Given the description of an element on the screen output the (x, y) to click on. 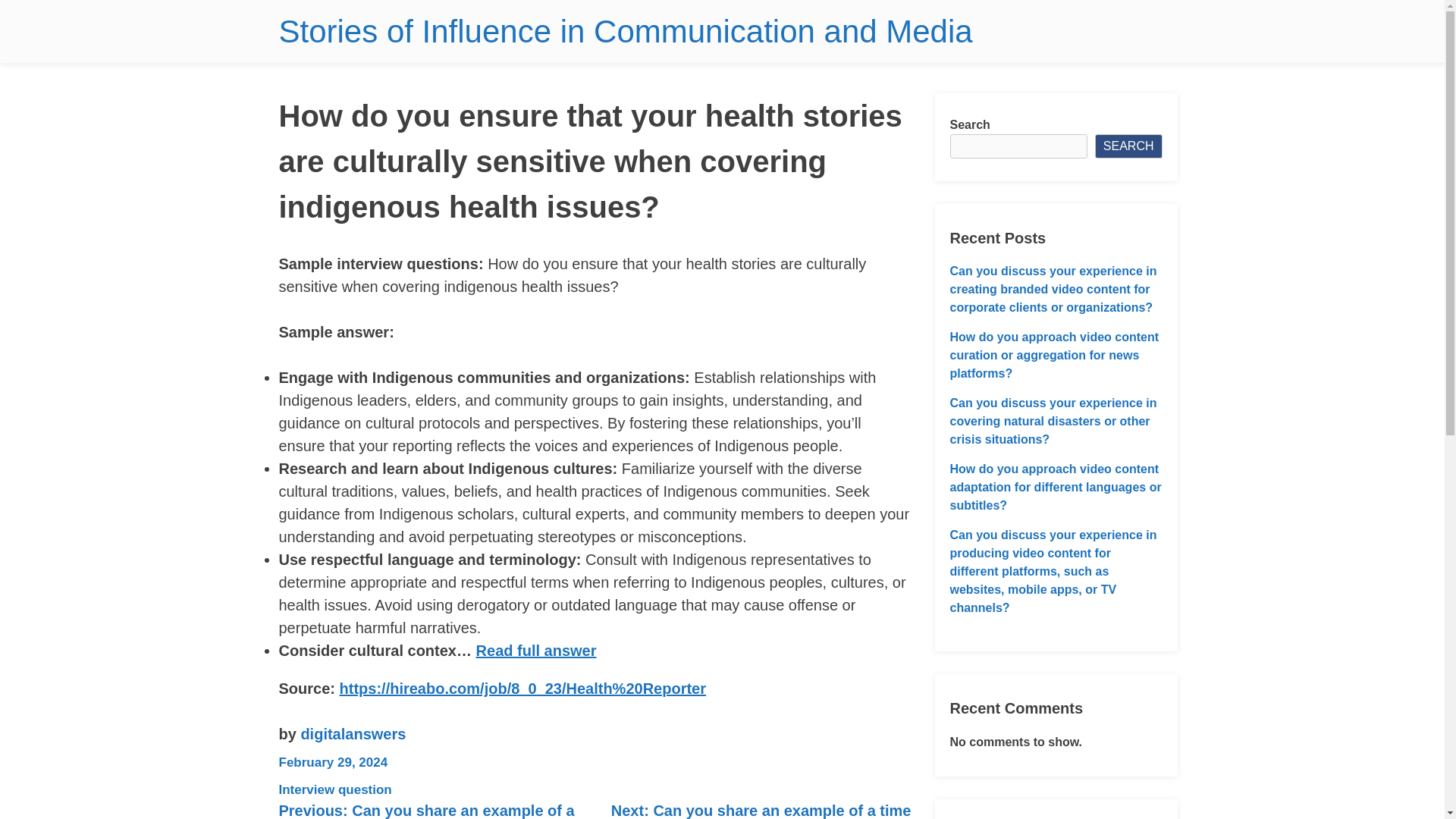
Interview question (335, 789)
SEARCH (1127, 146)
Stories of Influence in Communication and Media (625, 31)
February 29, 2024 (333, 762)
Read full answer (536, 650)
digitalanswers (352, 733)
